Given the description of an element on the screen output the (x, y) to click on. 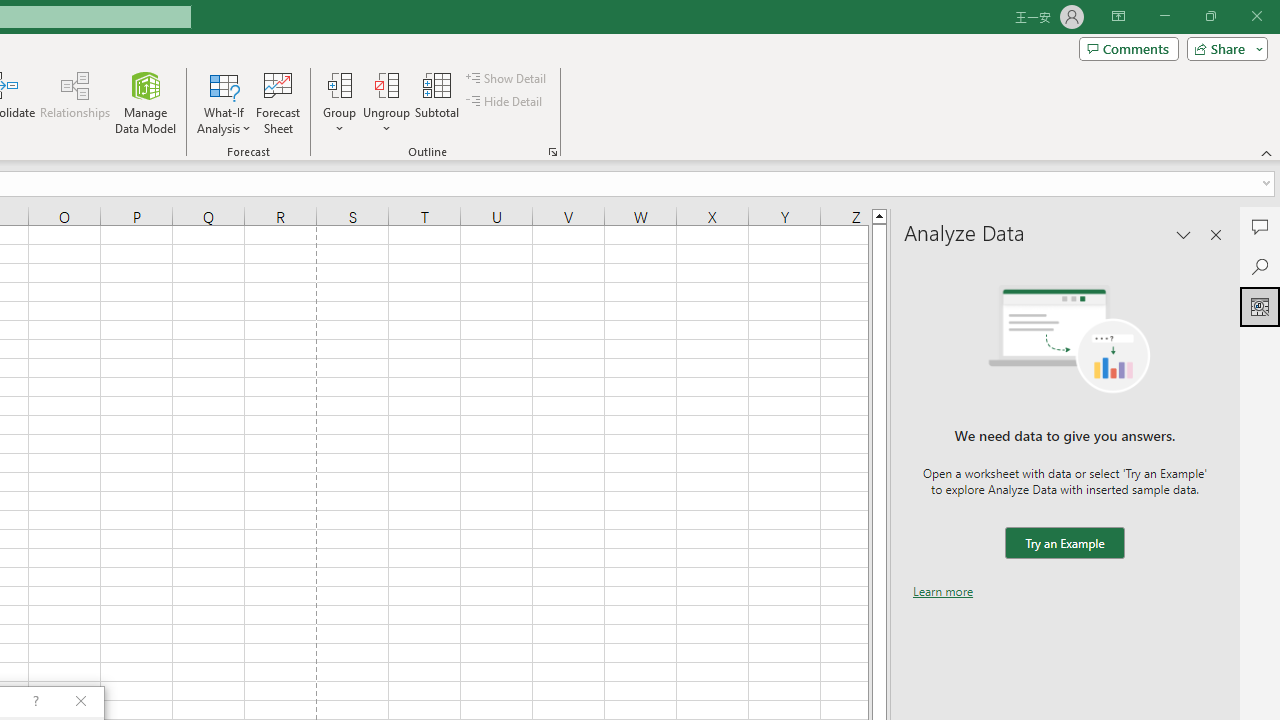
Group... (339, 84)
Group... (339, 102)
We need data to give you answers. Try an Example (1064, 543)
Ungroup... (386, 102)
Restore Down (1210, 16)
Group and Outline Settings (552, 151)
Search (1260, 266)
Forecast Sheet (278, 102)
Minimize (1164, 16)
Task Pane Options (1183, 234)
Ungroup... (386, 84)
Hide Detail (505, 101)
